Given the description of an element on the screen output the (x, y) to click on. 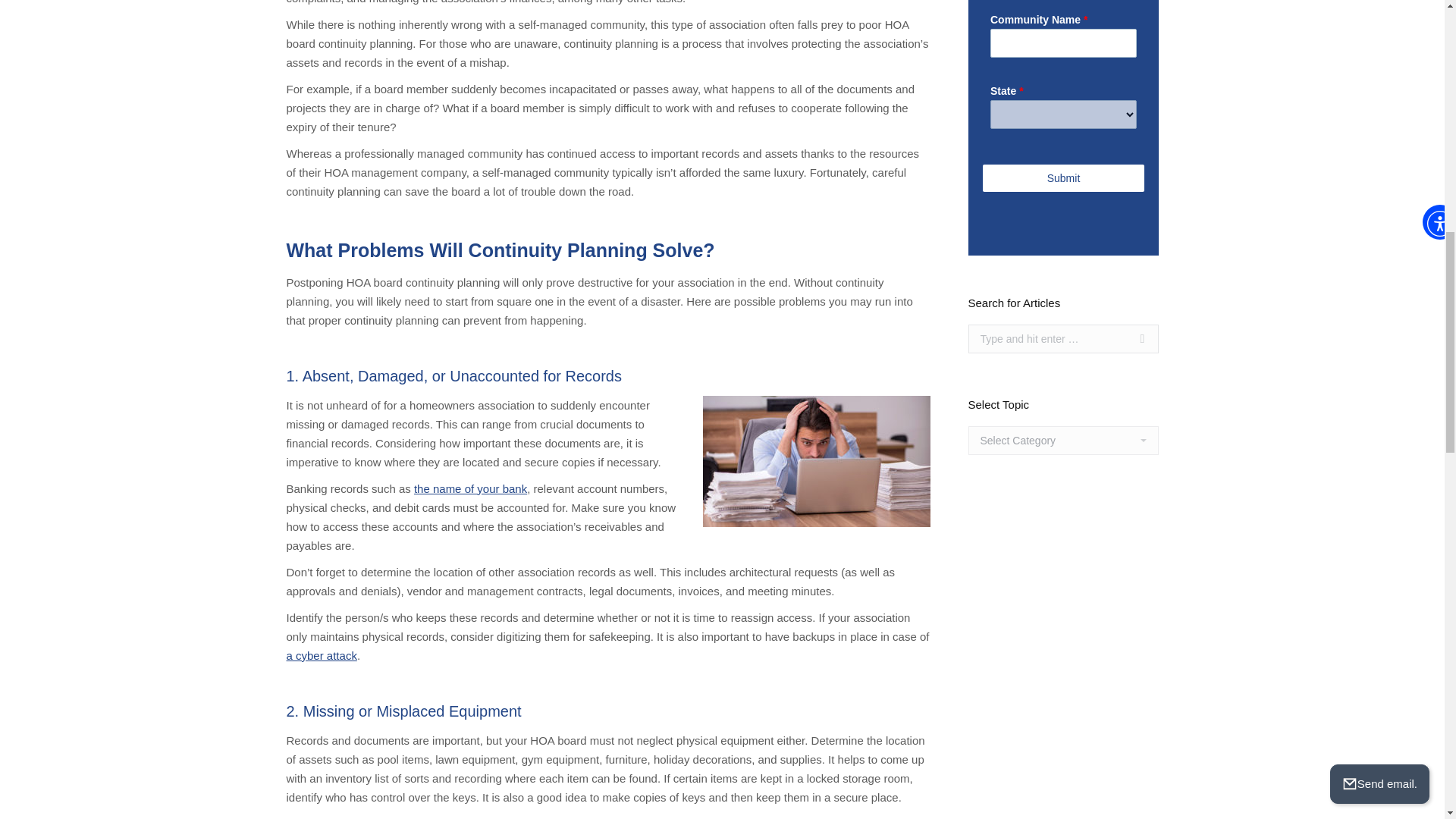
Go! (1134, 338)
Go! (1134, 338)
